Given the description of an element on the screen output the (x, y) to click on. 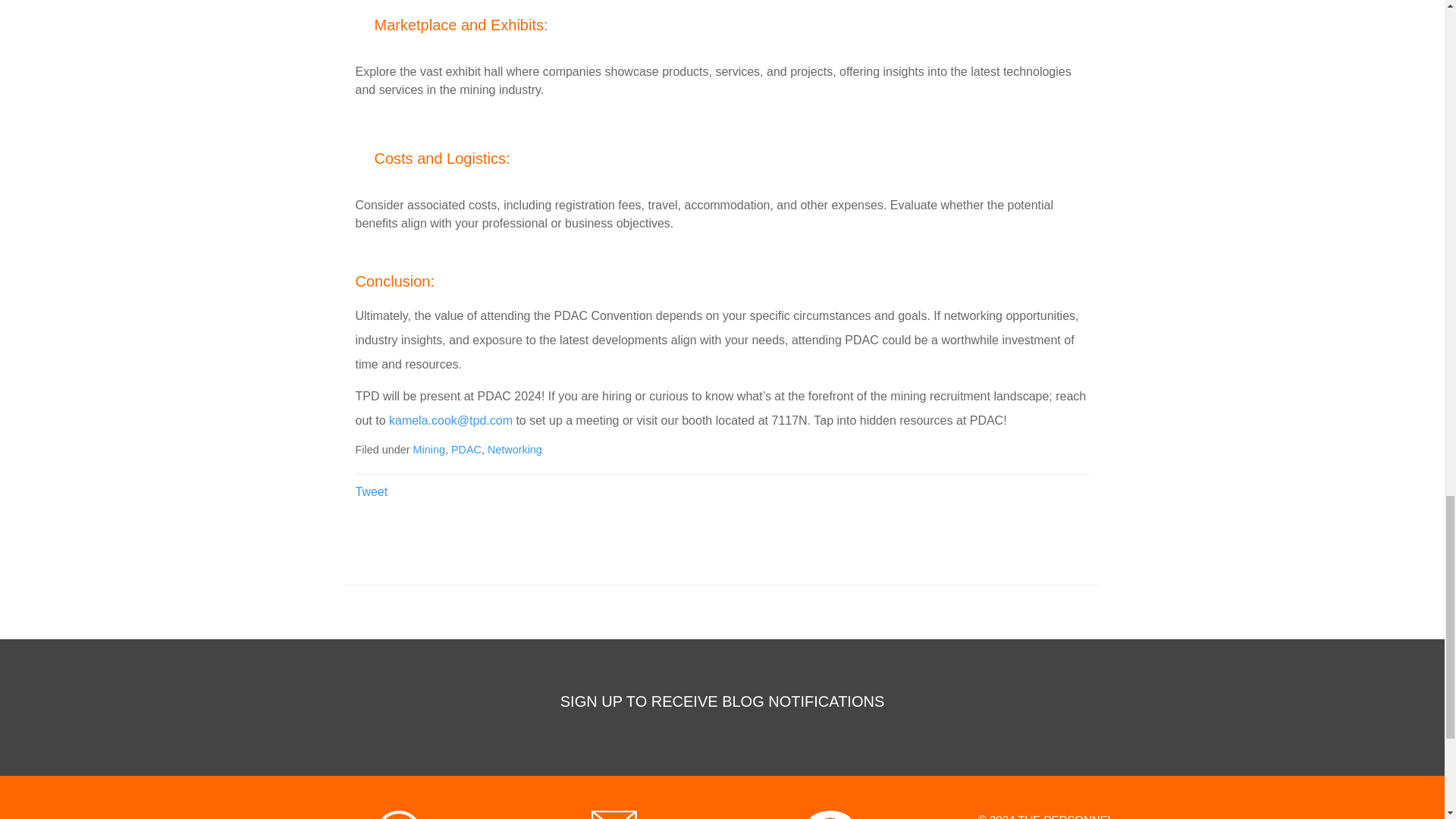
Mining (428, 449)
PDAC (466, 449)
Tweet (371, 491)
Networking (514, 449)
